Given the description of an element on the screen output the (x, y) to click on. 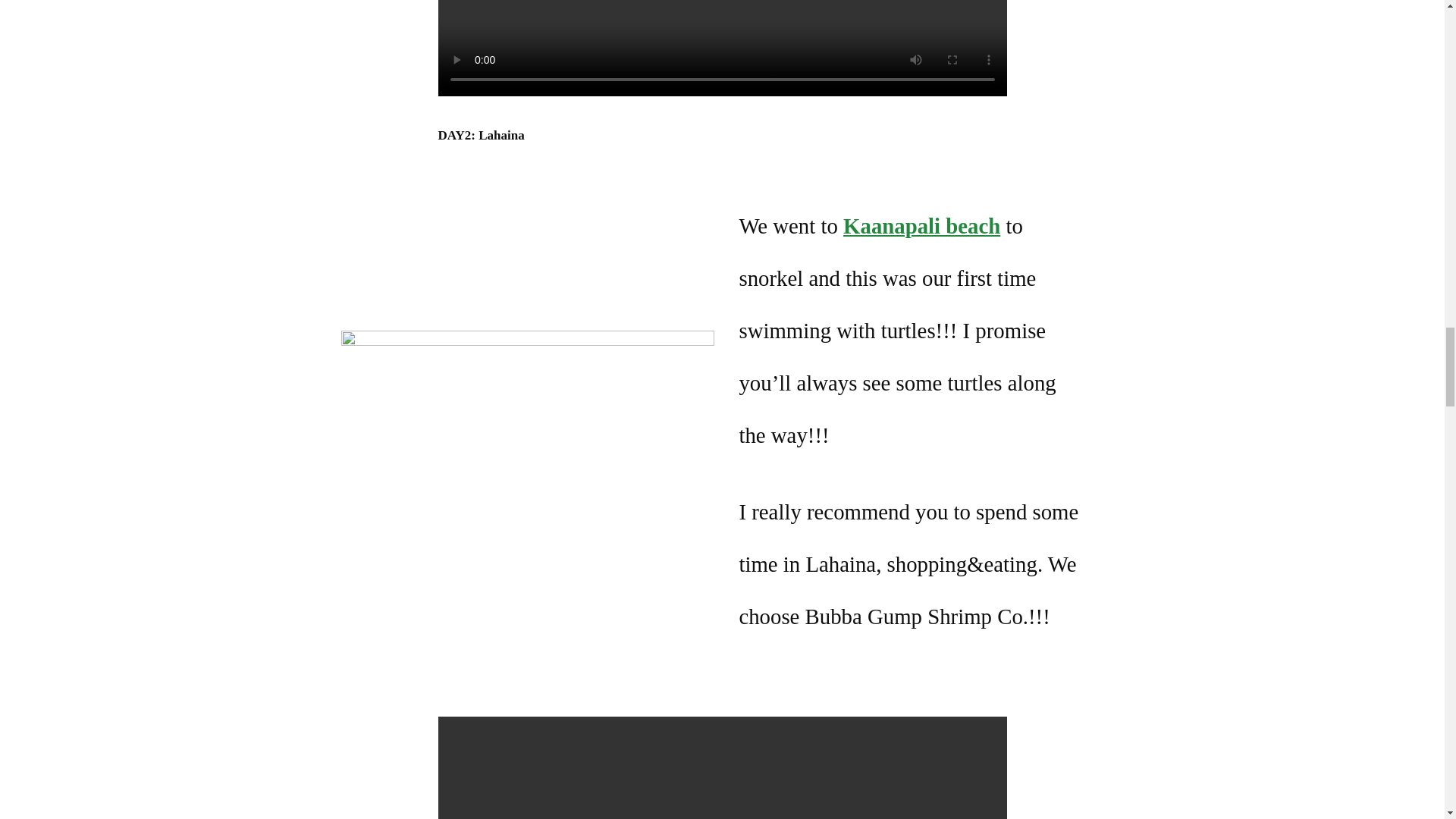
Kaanapali beach (921, 225)
